Given the description of an element on the screen output the (x, y) to click on. 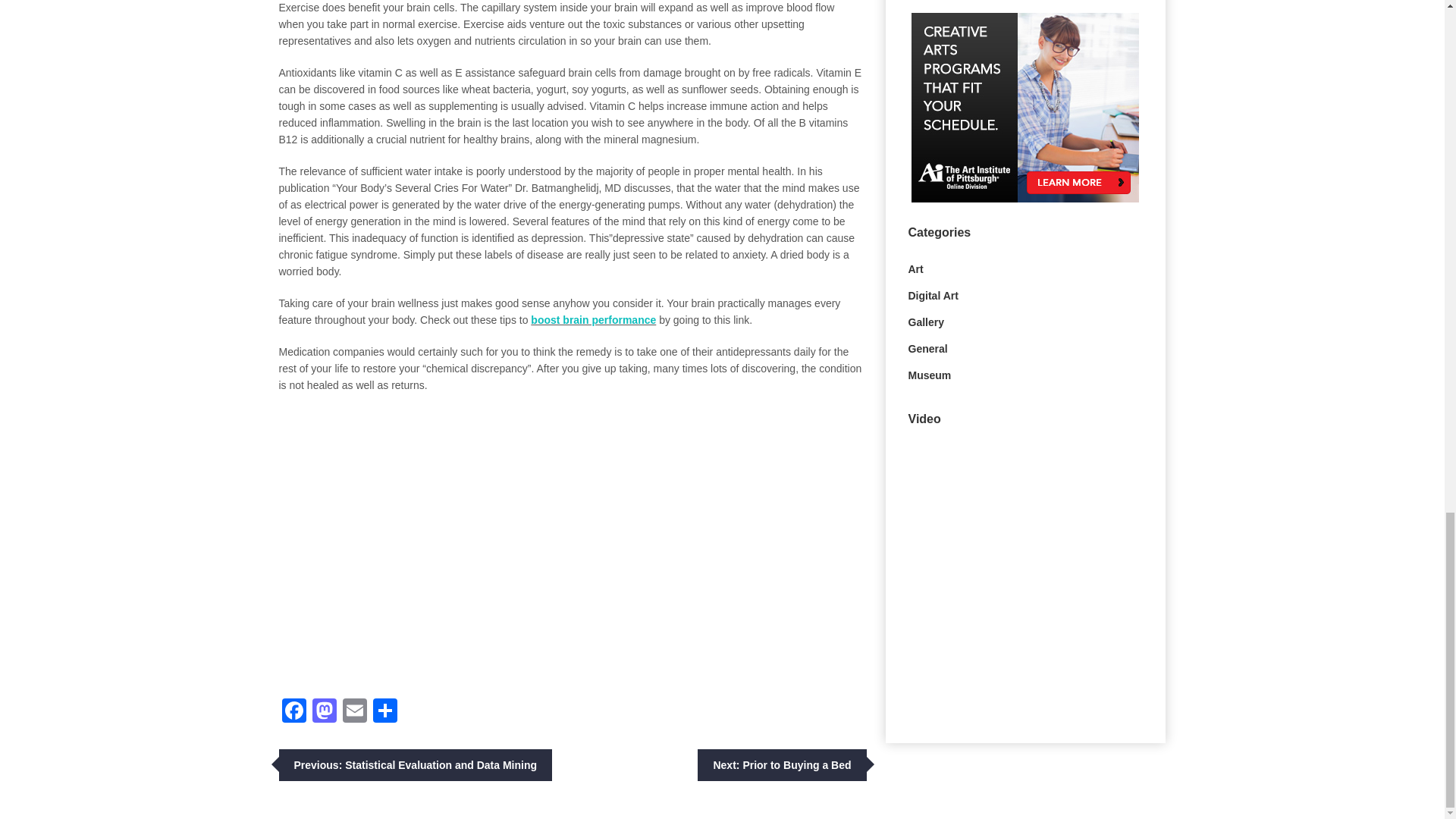
Facebook (293, 712)
Mastodon (323, 712)
Facebook (293, 712)
Mastodon (323, 712)
boost brain performance (593, 319)
Email (354, 712)
